Given the description of an element on the screen output the (x, y) to click on. 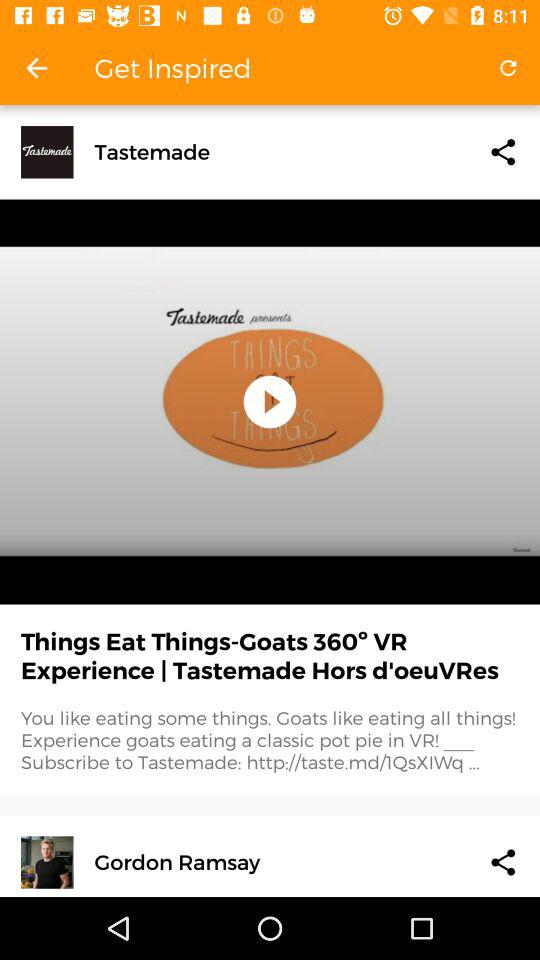
links to article (503, 152)
